Given the description of an element on the screen output the (x, y) to click on. 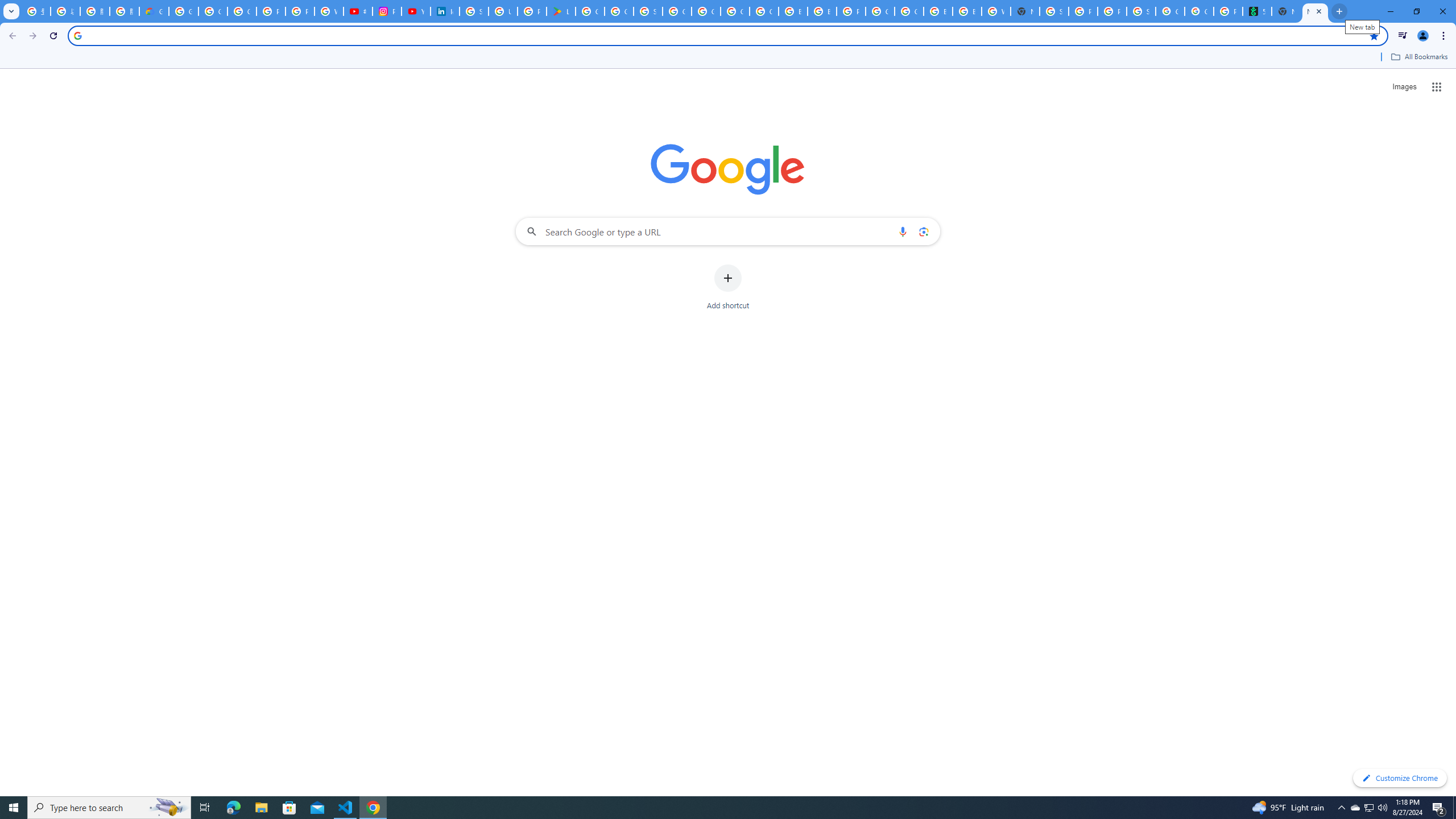
Browse Chrome as a guest - Computer - Google Chrome Help (938, 11)
Google Cloud Platform (879, 11)
Privacy Help Center - Policies Help (300, 11)
